Given the description of an element on the screen output the (x, y) to click on. 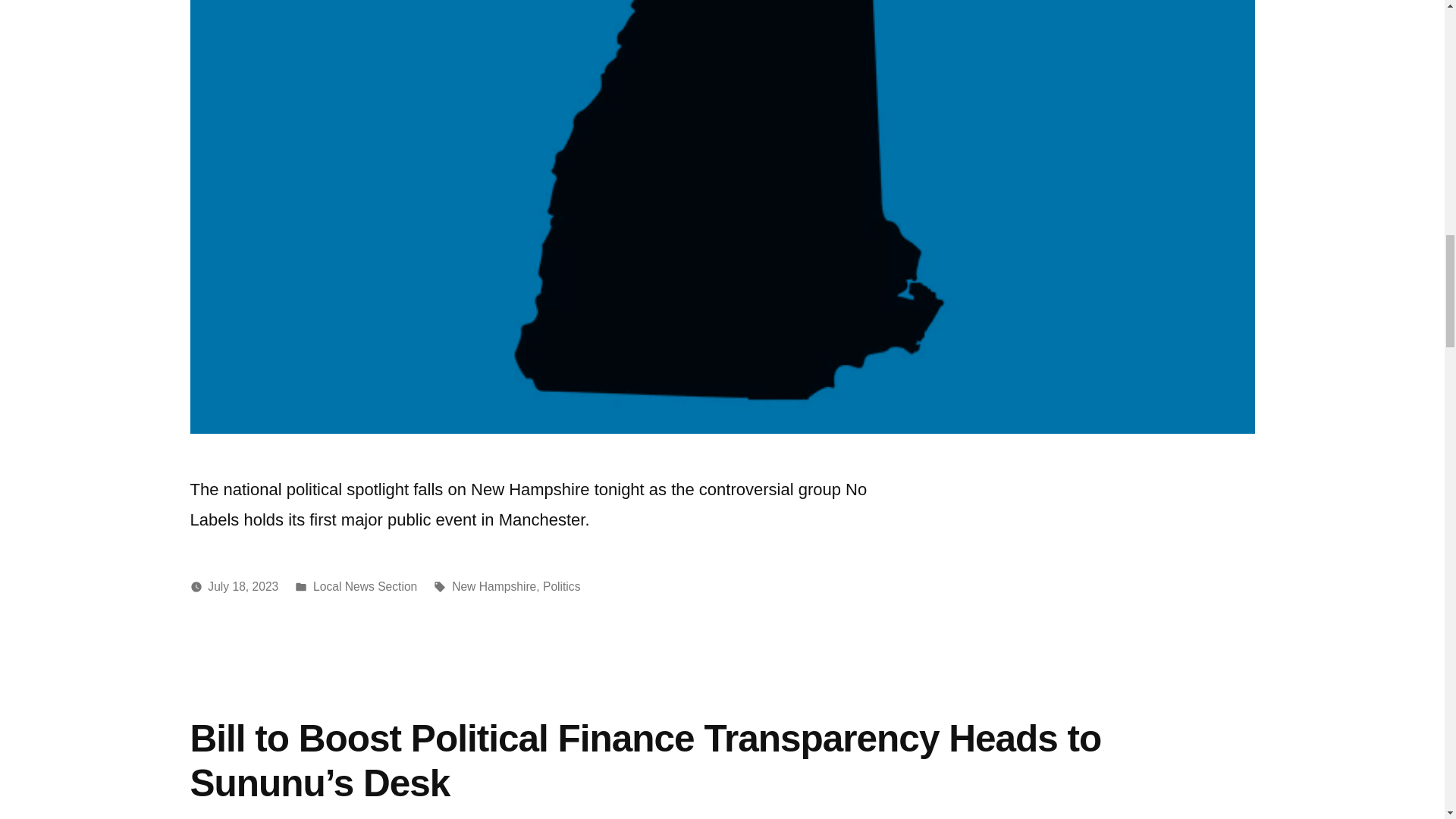
Politics (561, 585)
July 18, 2023 (243, 585)
New Hampshire (493, 585)
Local News Section (364, 585)
